Given the description of an element on the screen output the (x, y) to click on. 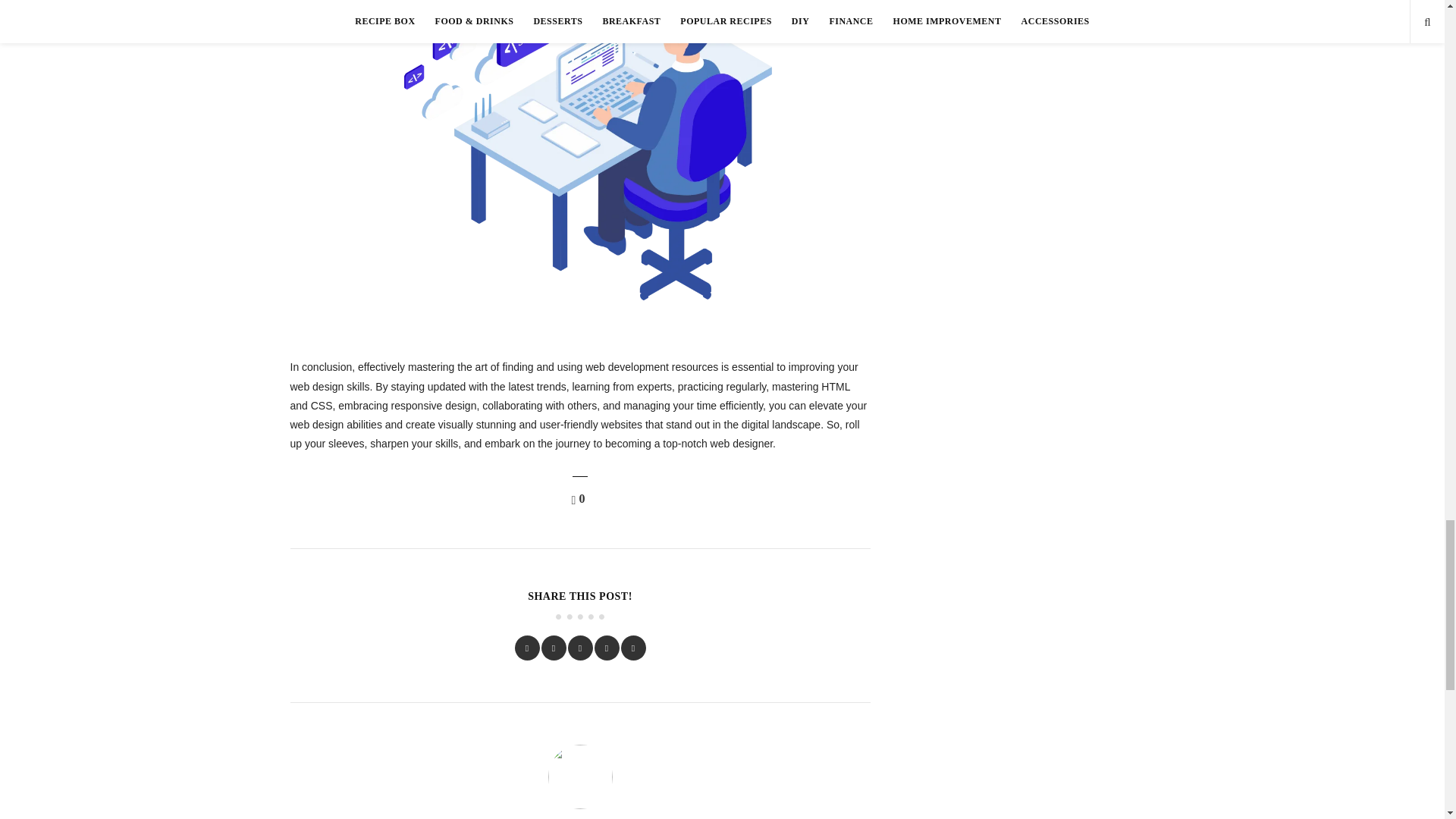
Like (580, 499)
 0 (580, 499)
